Given the description of an element on the screen output the (x, y) to click on. 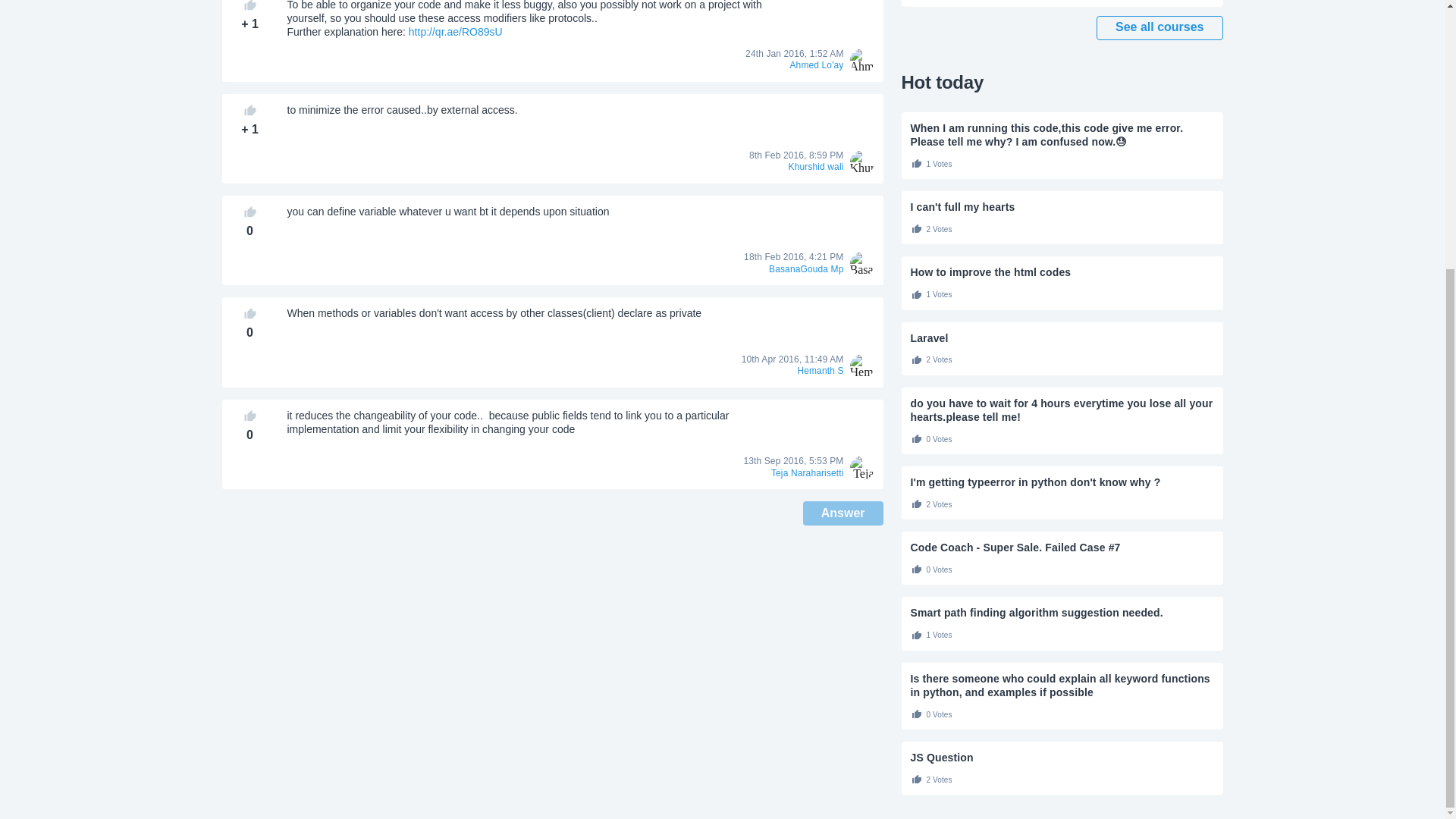
See all courses (1159, 27)
Introduction to HTML (1062, 3)
Smart path finding algorithm suggestion needed. (1061, 612)
I'm getting typeerror in python don't know why ? (1061, 481)
How to improve the html codes (1061, 272)
I can't full my hearts (1061, 206)
Answer (843, 513)
Laravel (1061, 337)
JS Question (1061, 757)
